Given the description of an element on the screen output the (x, y) to click on. 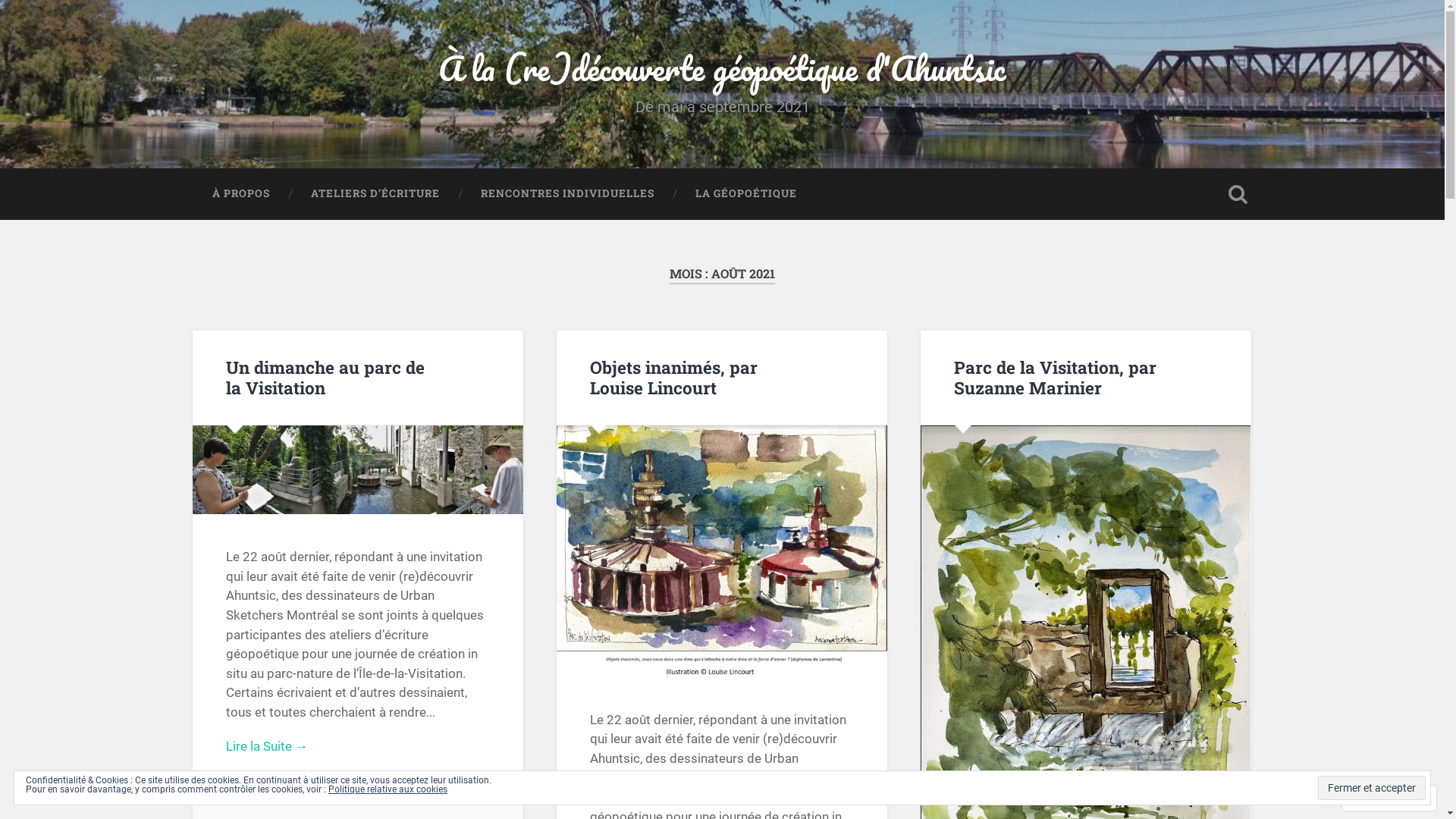
Politique relative aux cookies Element type: text (387, 789)
Suivre Element type: text (1374, 797)
RENCONTRES INDIVIDUELLES Element type: text (566, 193)
Fermer et accepter Element type: text (1371, 787)
Parc de la Visitation, par Suzanne Marinier Element type: text (1054, 376)
Ouvrir la recherche Element type: text (1237, 193)
Un dimanche au parc de la Visitation Element type: text (324, 376)
